Given the description of an element on the screen output the (x, y) to click on. 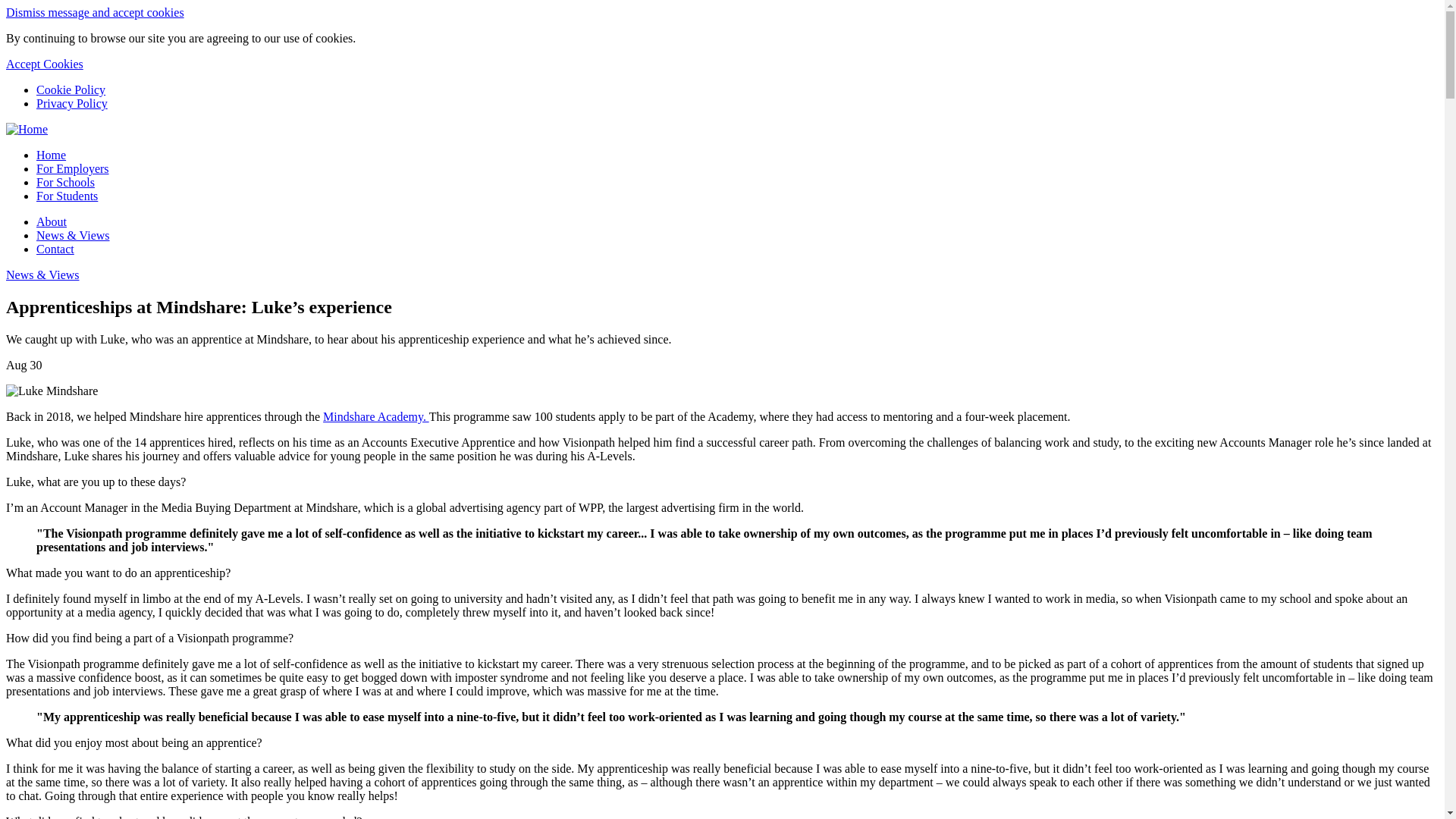
For Employers (72, 168)
Home (50, 154)
For Students (66, 195)
About (51, 221)
Mindshare Academy.  (376, 416)
Accept Cookies (43, 63)
Cookie Policy (70, 89)
Contact (55, 248)
Privacy Policy (71, 103)
For Schools (65, 182)
